Given the description of an element on the screen output the (x, y) to click on. 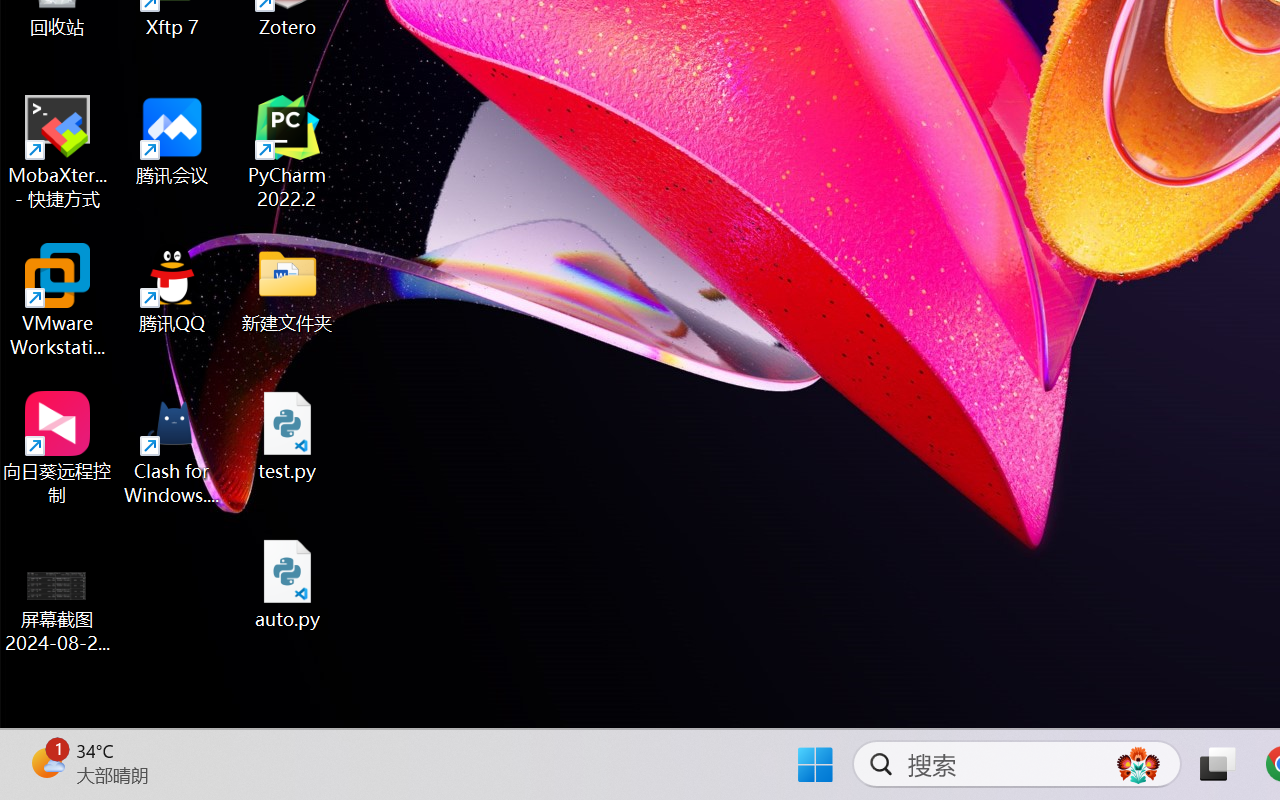
VMware Workstation Pro (57, 300)
auto.py (287, 584)
test.py (287, 436)
